Given the description of an element on the screen output the (x, y) to click on. 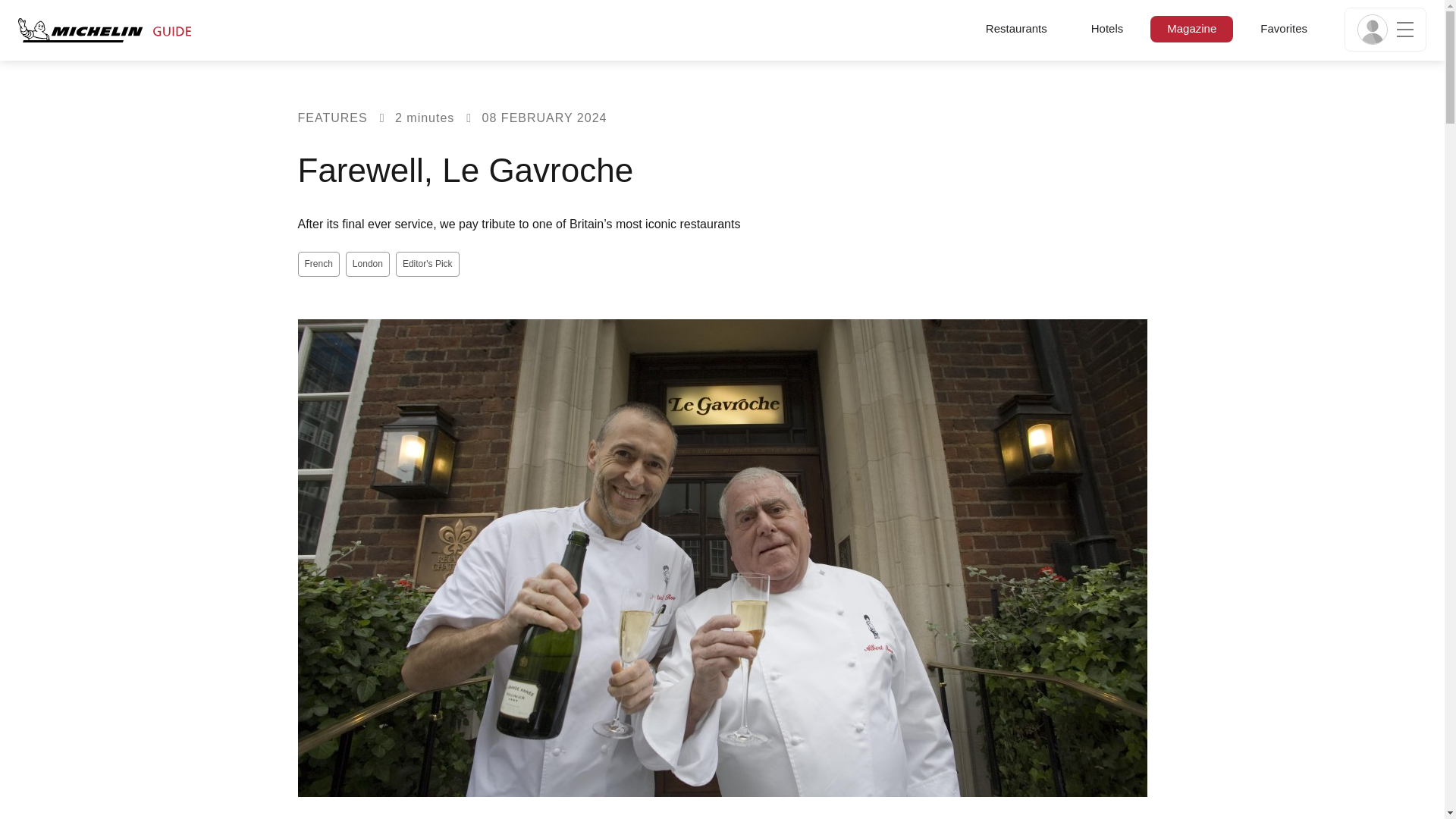
Editor's Pick (428, 263)
French (318, 263)
Magazine (1191, 28)
Hotels (1107, 28)
London (368, 263)
Favorites (1283, 28)
Restaurants (1016, 28)
